Given the description of an element on the screen output the (x, y) to click on. 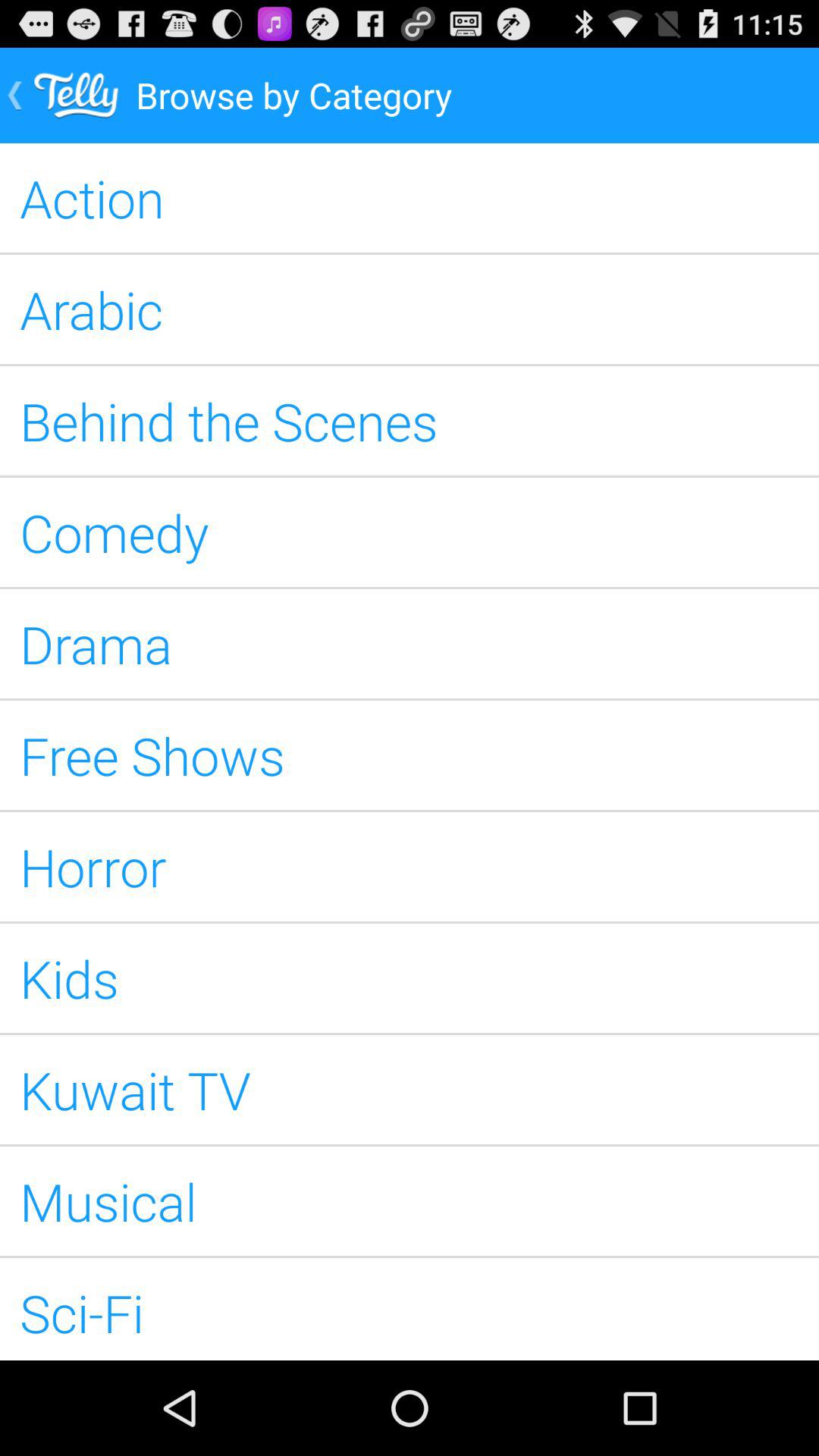
turn on musical icon (409, 1200)
